Given the description of an element on the screen output the (x, y) to click on. 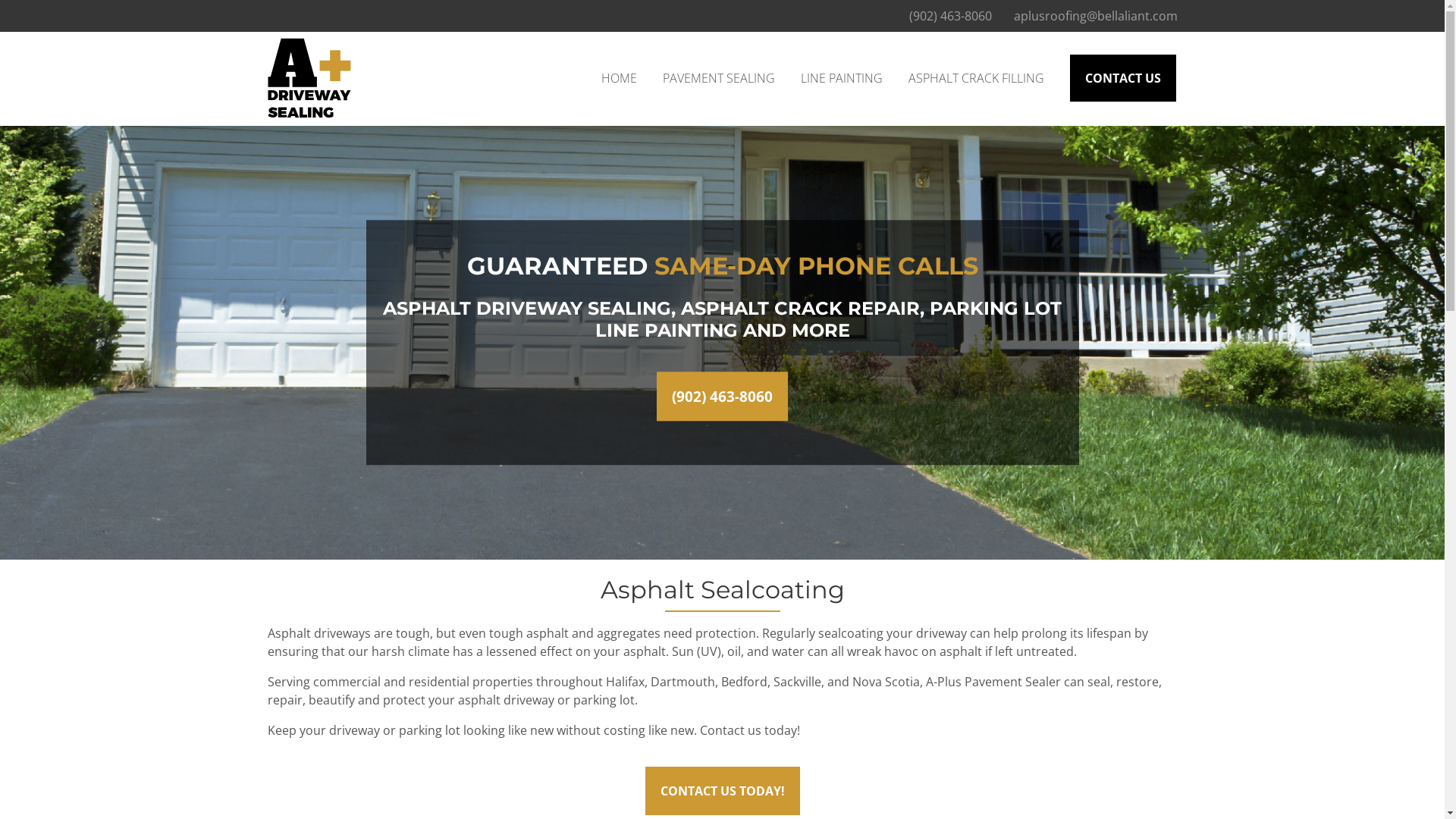
PAVEMENT SEALING Element type: text (718, 77)
ASPHALT CRACK FILLING Element type: text (976, 77)
CONTACT US Element type: text (1122, 77)
LINE PAINTING Element type: text (841, 77)
CONTACT US TODAY! Element type: text (721, 789)
HOME Element type: text (618, 77)
aplusroofing@bellaliant.com Element type: text (1094, 15)
(902) 463-8060 Element type: text (949, 15)
(902) 463-8060 Element type: text (721, 395)
